Given the description of an element on the screen output the (x, y) to click on. 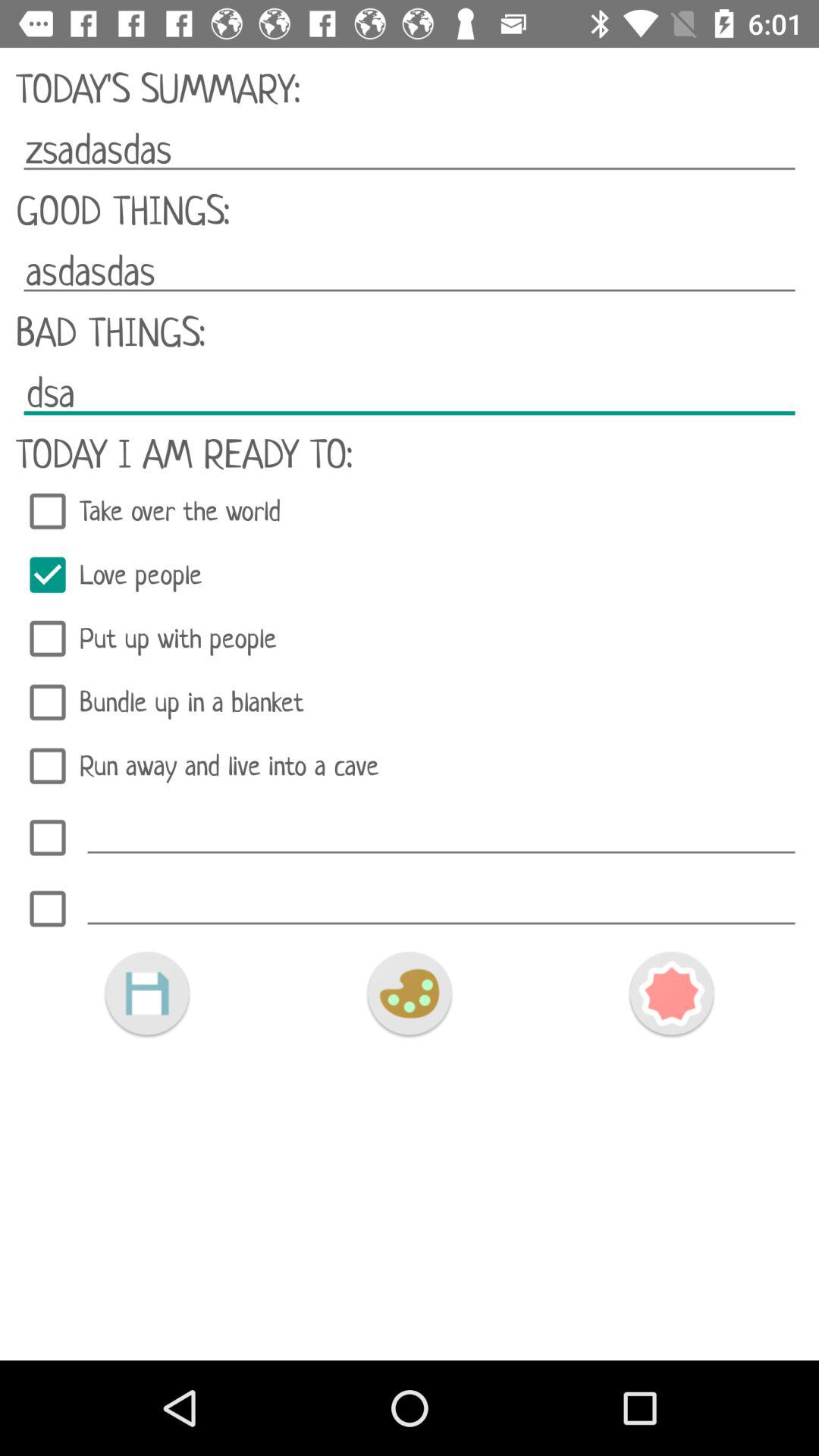
add activity (441, 833)
